Given the description of an element on the screen output the (x, y) to click on. 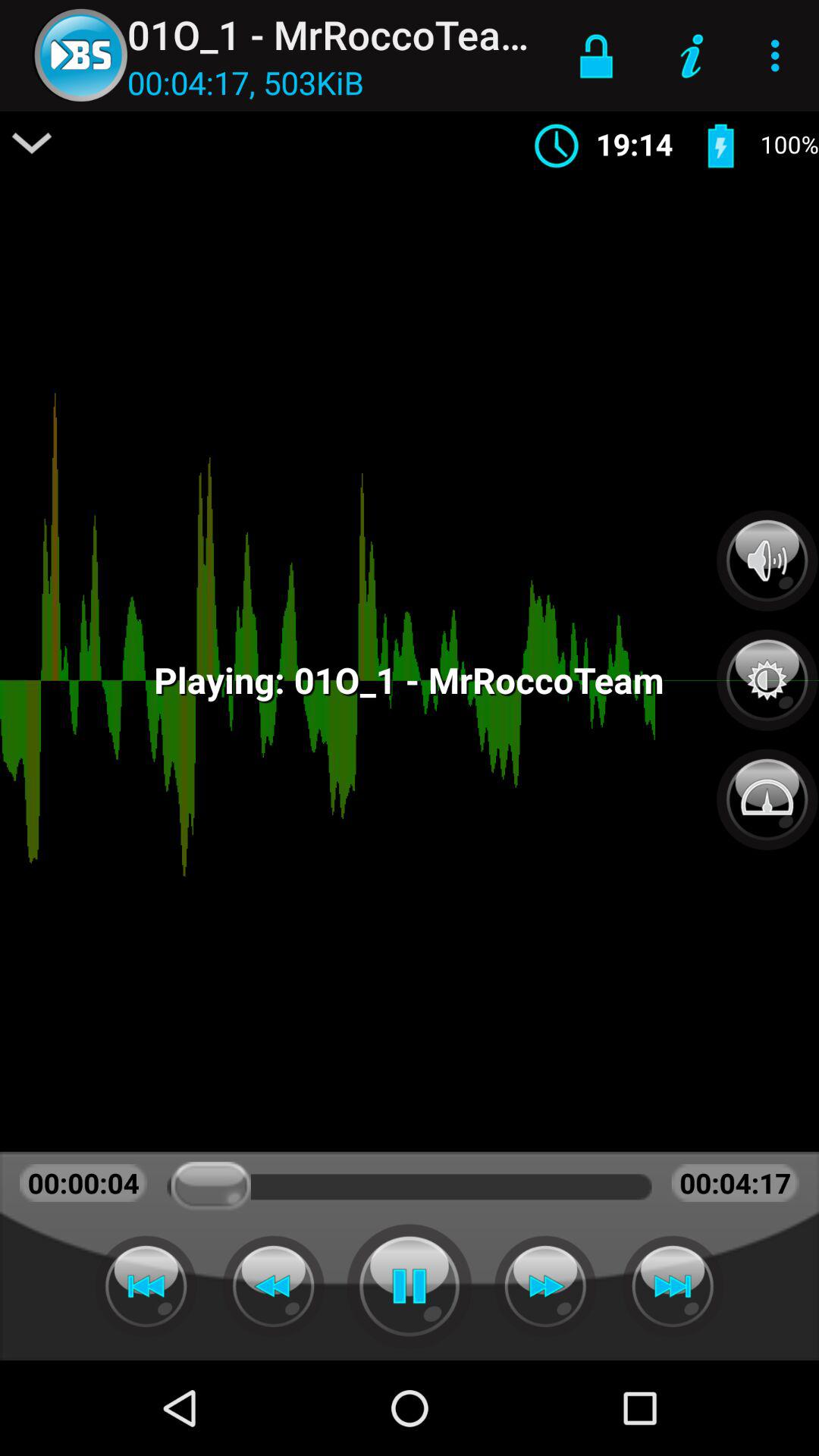
go back previous (145, 1286)
